Given the description of an element on the screen output the (x, y) to click on. 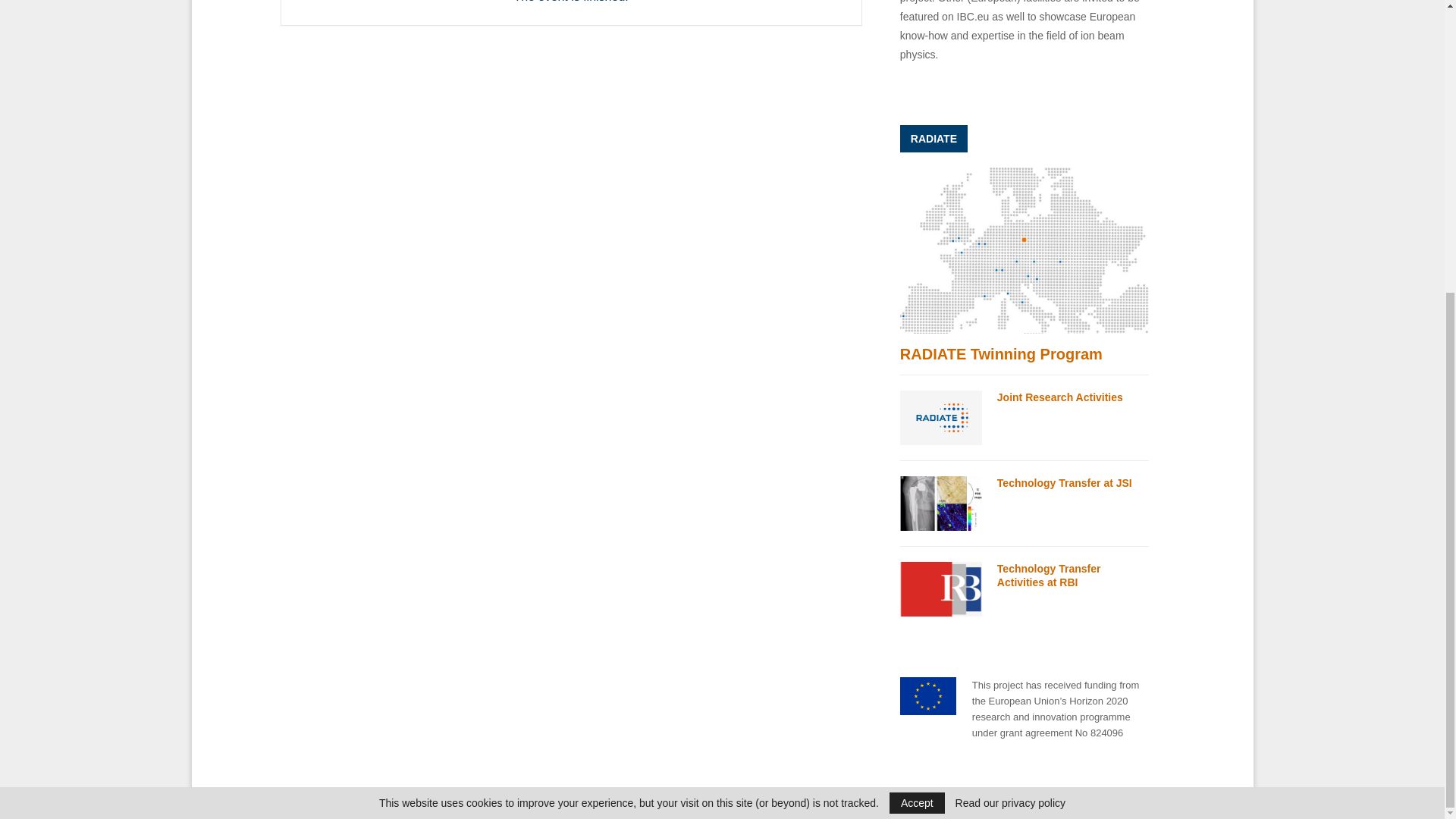
 Technology Transfer Activities at RBI  (1048, 575)
Technology Transfer at JSI (940, 502)
 RADIATE Twinning Program  (1000, 353)
Joint Research Activities (940, 417)
 Joint Research Activities  (1059, 397)
 Technology Transfer at JSI  (1064, 482)
RADIATE Twinning Program (1024, 250)
Technology Transfer Activities at RBI (940, 588)
